Given the description of an element on the screen output the (x, y) to click on. 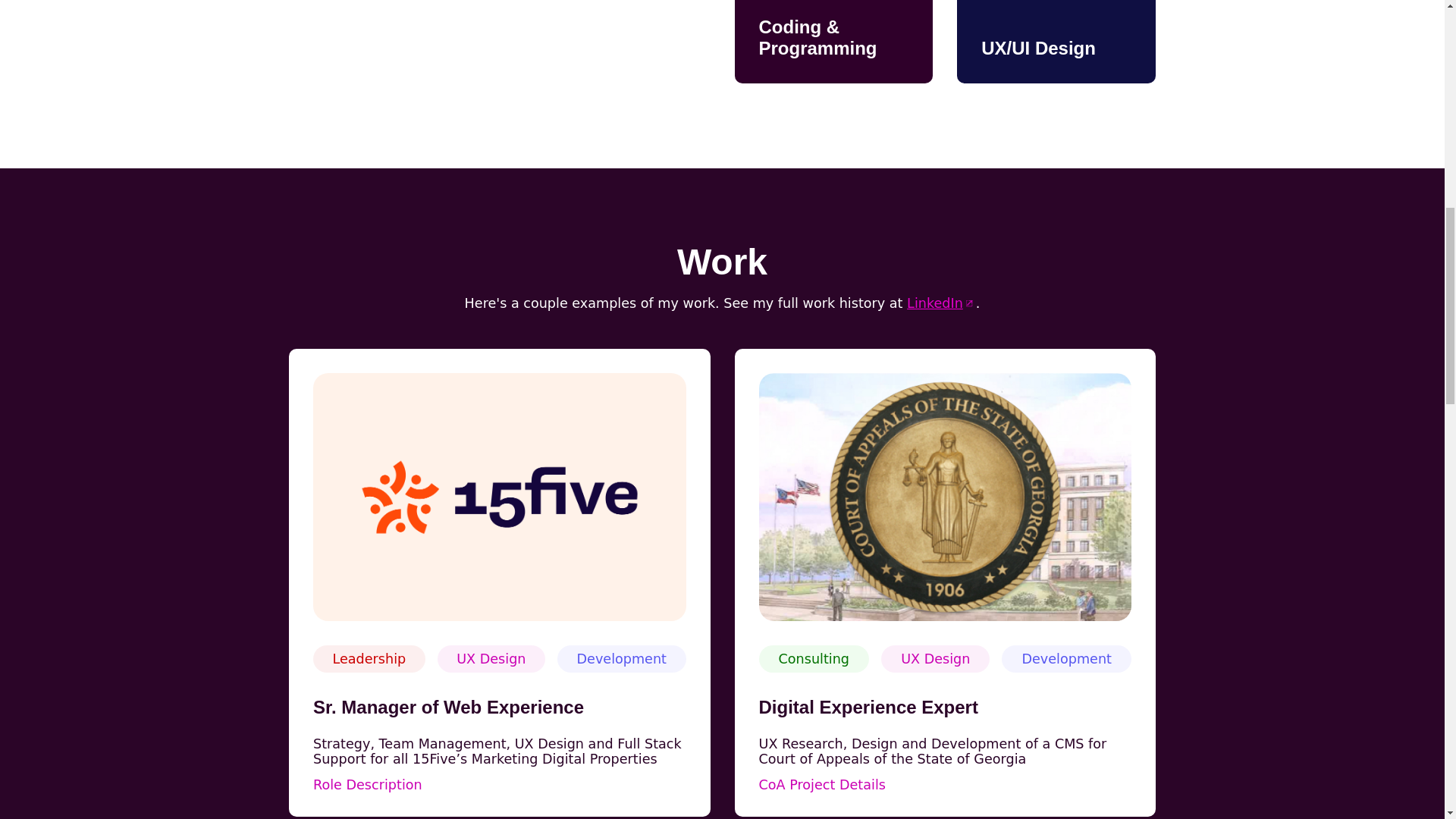
LinkedIn (941, 303)
